Given the description of an element on the screen output the (x, y) to click on. 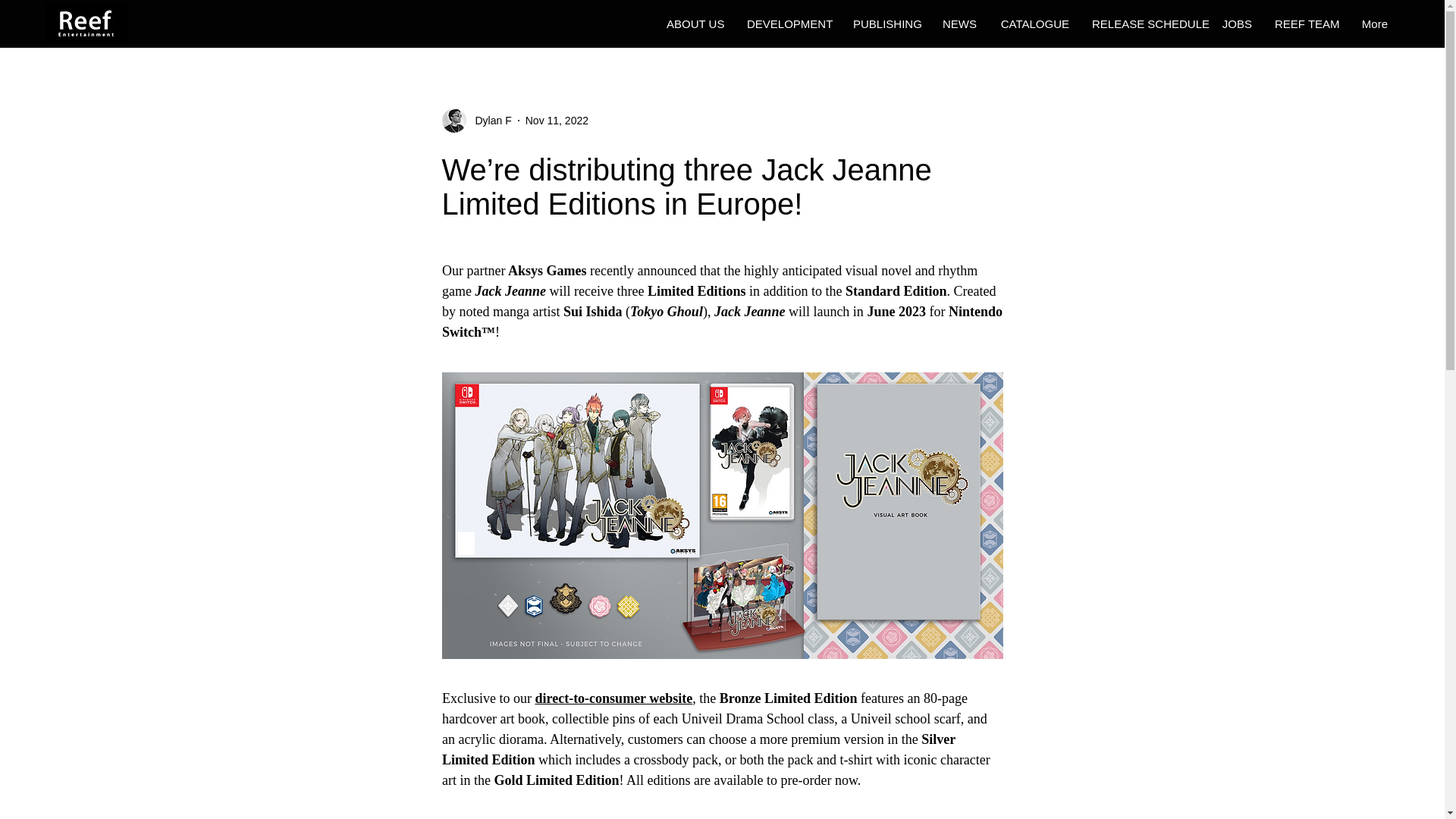
NEWS (959, 23)
Dylan F (488, 119)
REEF TEAM (1304, 23)
JOBS (1236, 23)
DEVELOPMENT (788, 23)
PUBLISHING (886, 23)
direct-to-consumer website (613, 698)
RELEASE SCHEDULE (1144, 23)
CATALOGUE (1033, 23)
Nov 11, 2022 (556, 119)
